Given the description of an element on the screen output the (x, y) to click on. 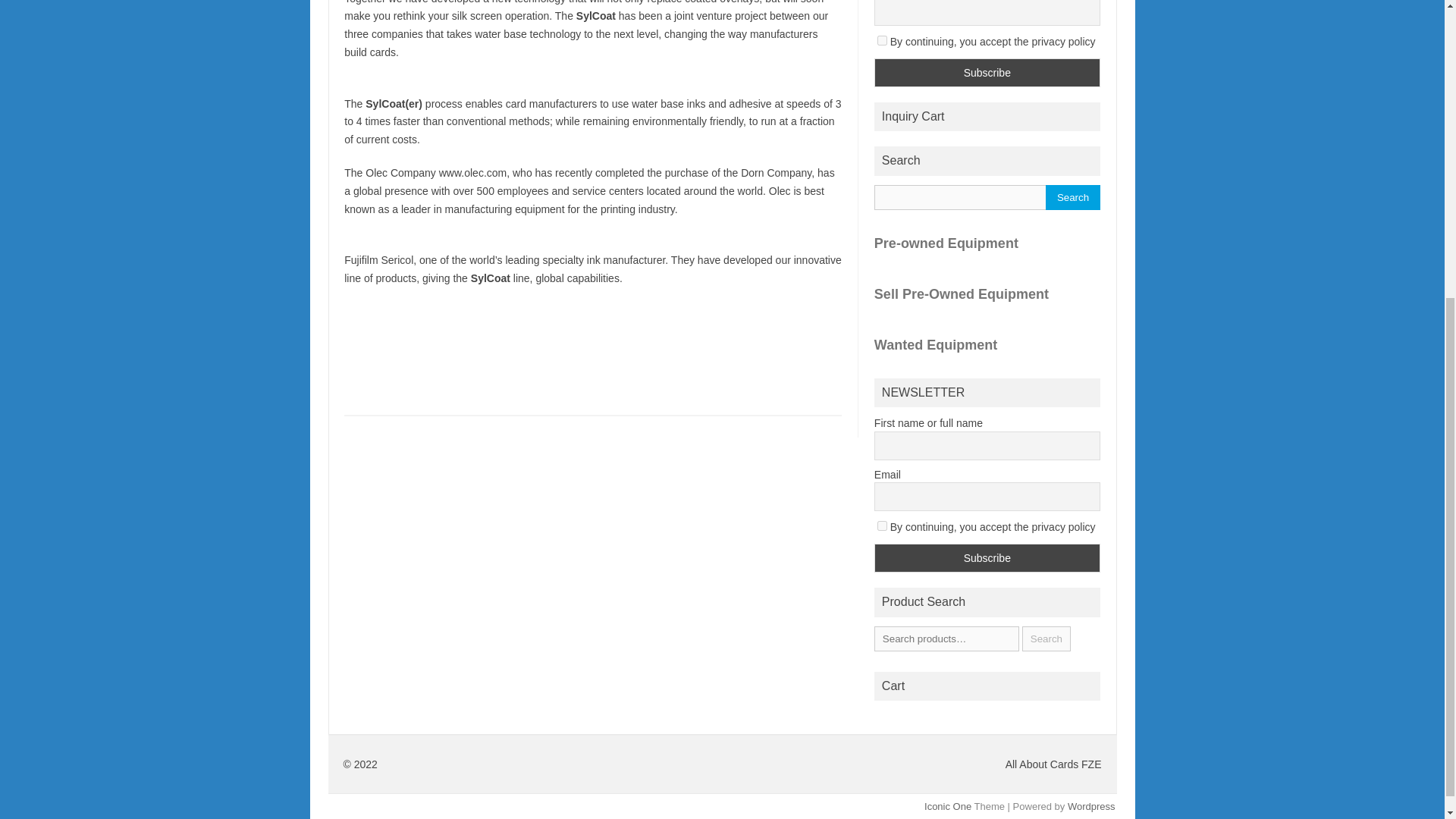
Search (1072, 197)
Sell Pre-Owned Equipment (987, 294)
Search (1046, 638)
on (881, 40)
on (881, 525)
Subscribe (987, 72)
Wanted Equipment (987, 344)
Search (1072, 197)
Subscribe (987, 557)
Subscribe (987, 72)
